Given the description of an element on the screen output the (x, y) to click on. 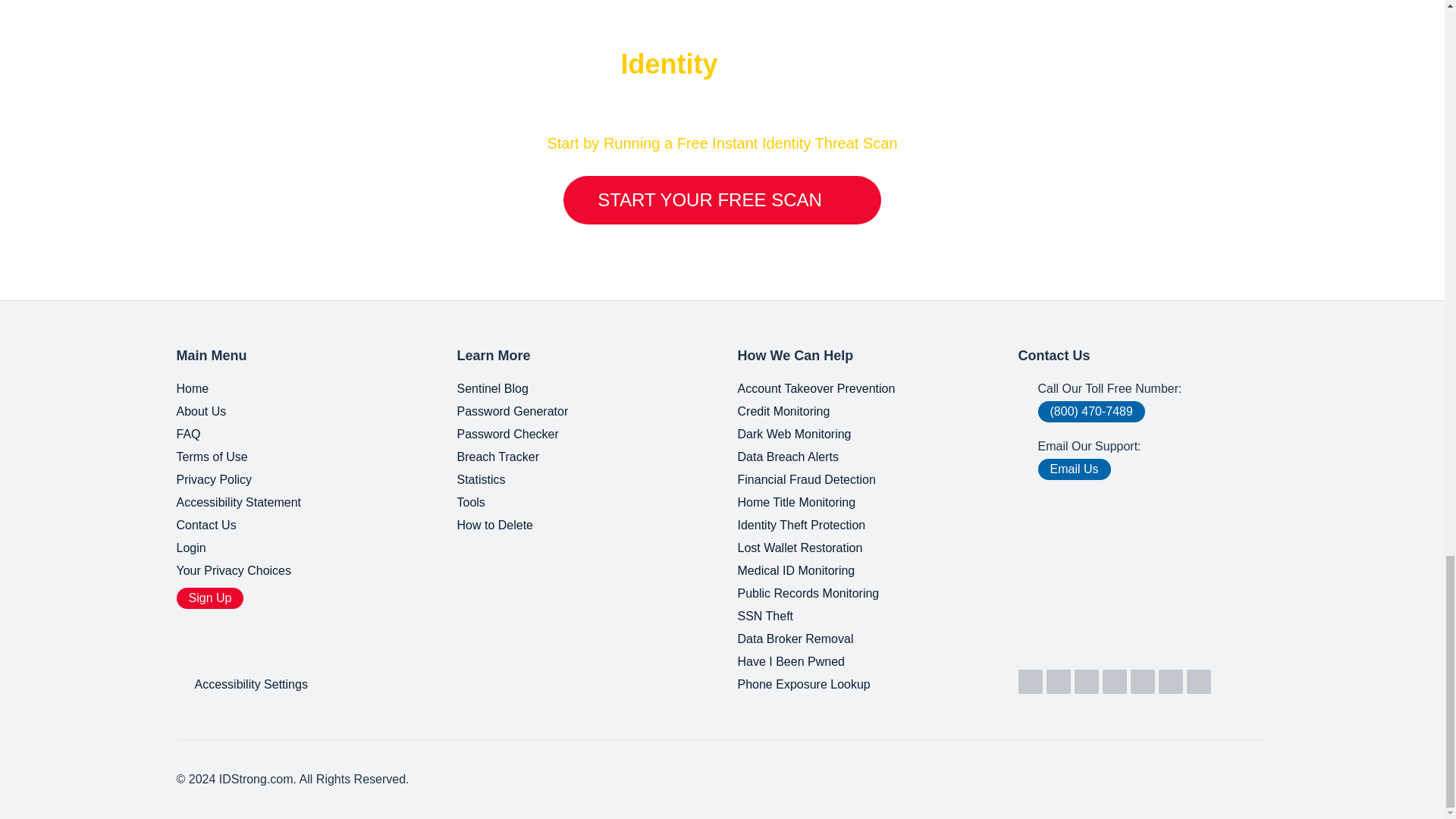
Podcast (1170, 681)
Instagram (1141, 681)
YouTube (1058, 681)
LinkedIn (1029, 681)
Facebook (1114, 681)
Twitter (1085, 681)
Threads (1197, 681)
